Given the description of an element on the screen output the (x, y) to click on. 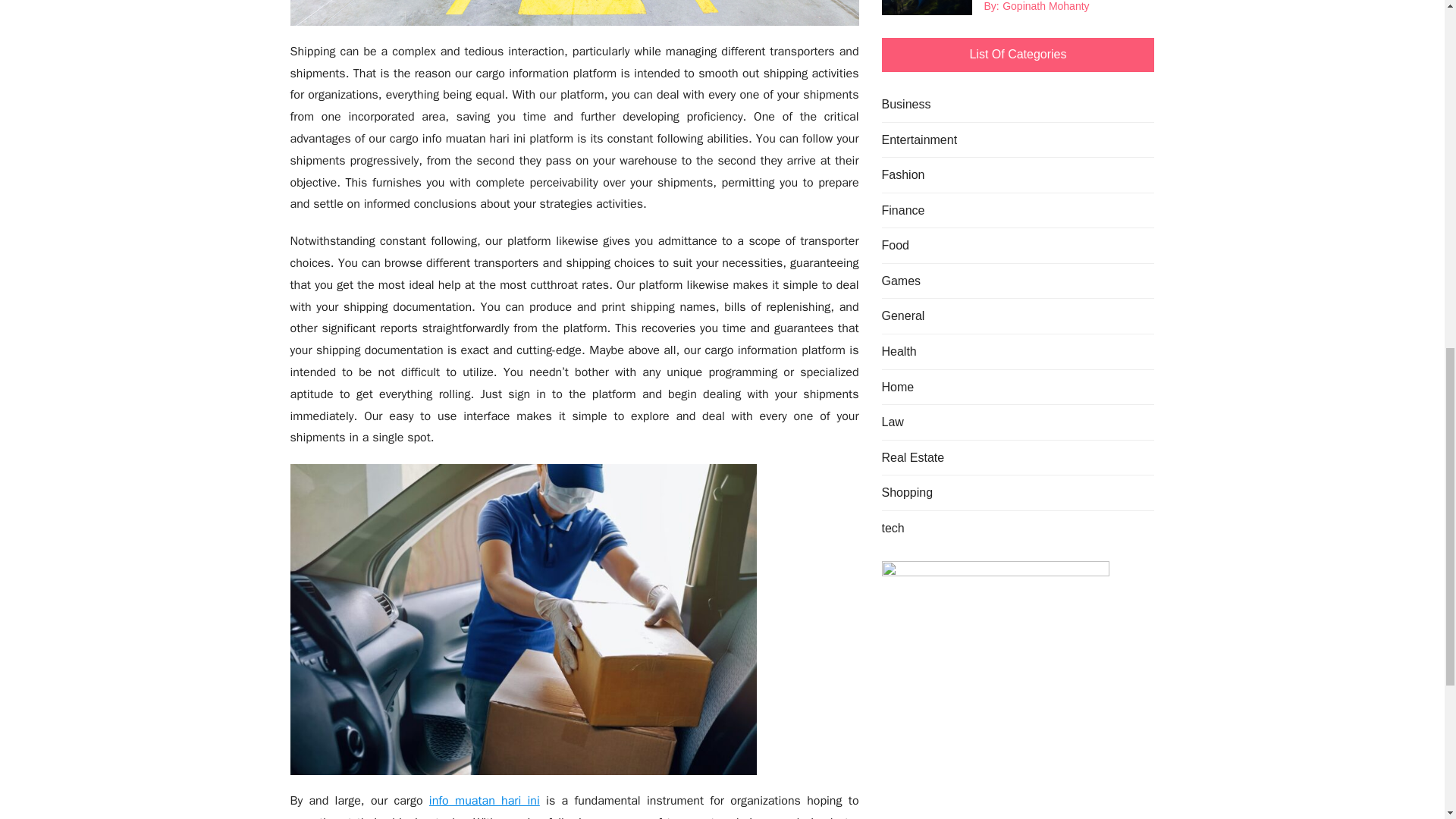
info muatan hari ini (484, 800)
Food (894, 245)
Games (900, 281)
Fashion (902, 175)
Gopinath Mohanty (1046, 7)
Finance (902, 210)
Entertainment (918, 139)
Business (905, 104)
